Given the description of an element on the screen output the (x, y) to click on. 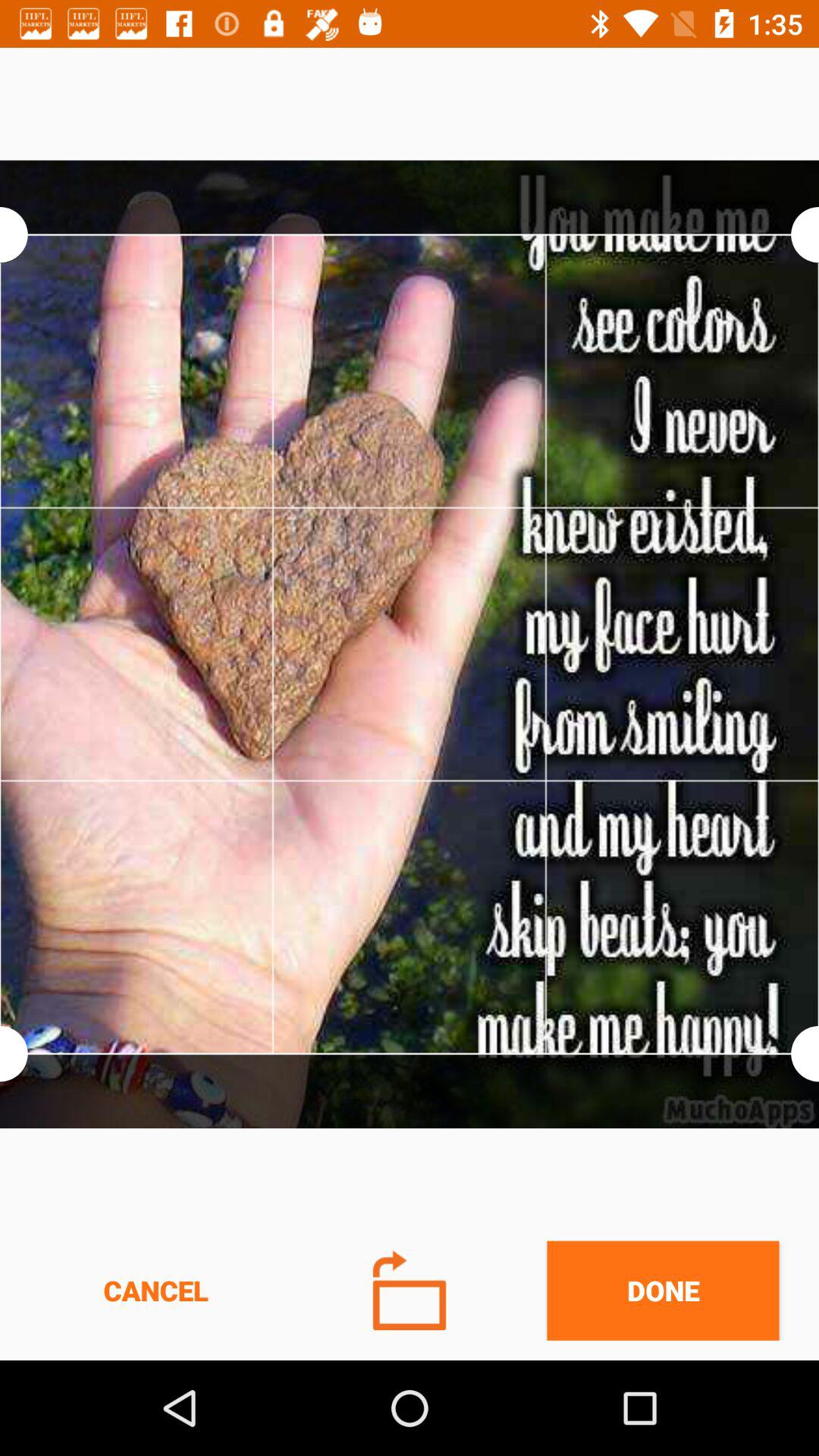
swipe to cancel item (155, 1290)
